Given the description of an element on the screen output the (x, y) to click on. 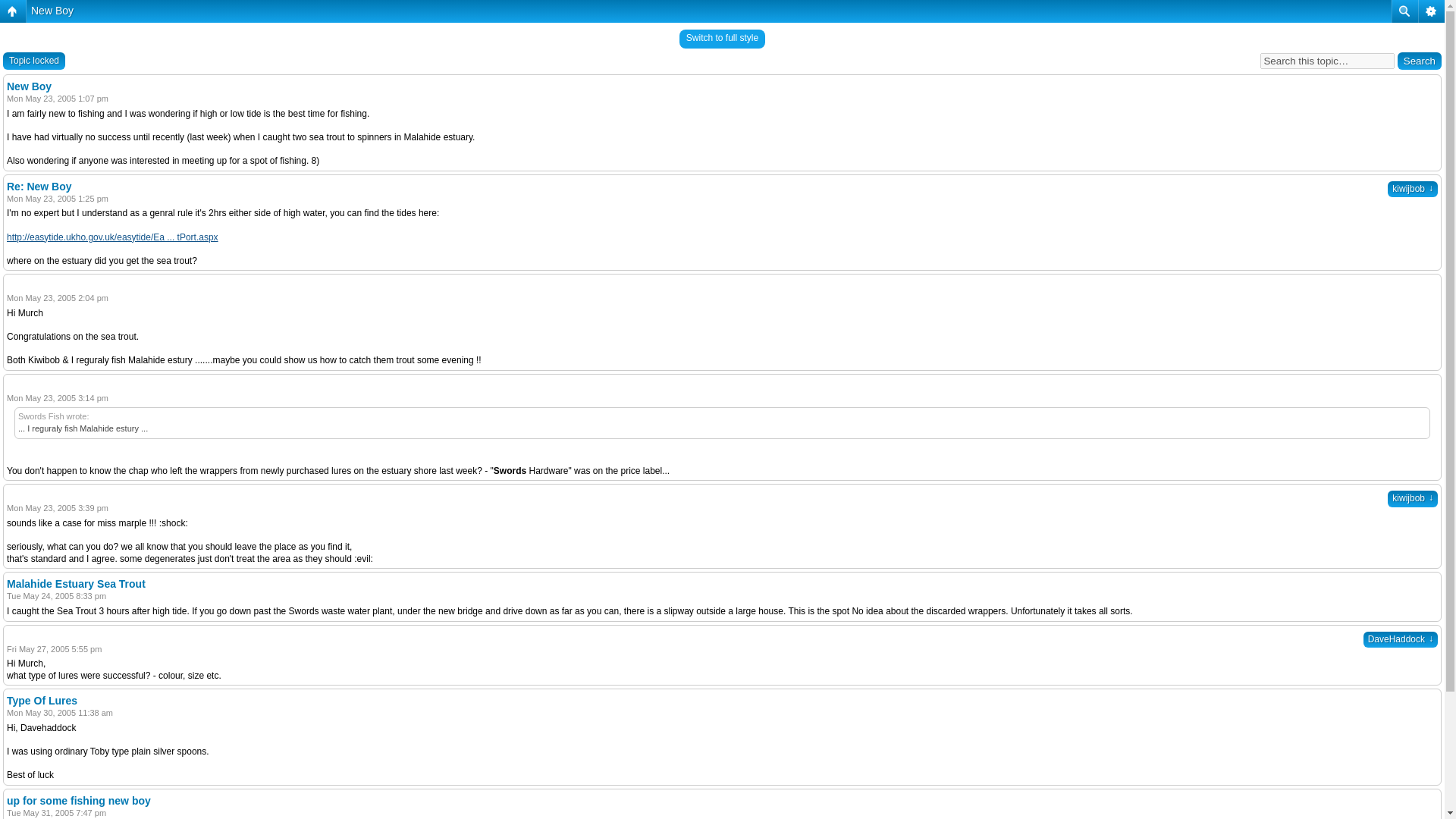
Switch to full style (722, 38)
Search (1419, 60)
Search (1419, 60)
New Boy (52, 10)
Topic locked (33, 61)
